Given the description of an element on the screen output the (x, y) to click on. 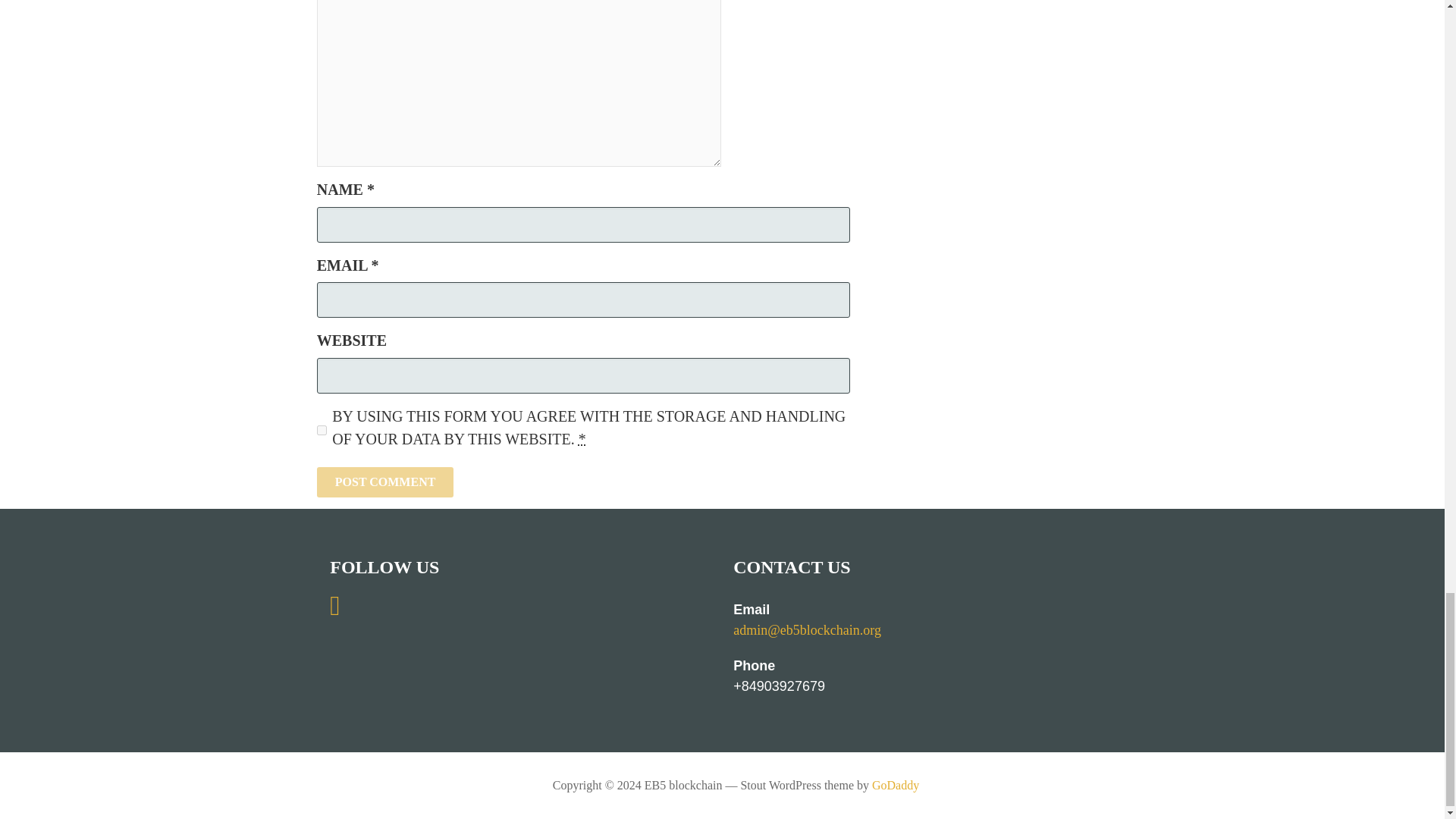
Post Comment (385, 481)
Post Comment (385, 481)
